Given the description of an element on the screen output the (x, y) to click on. 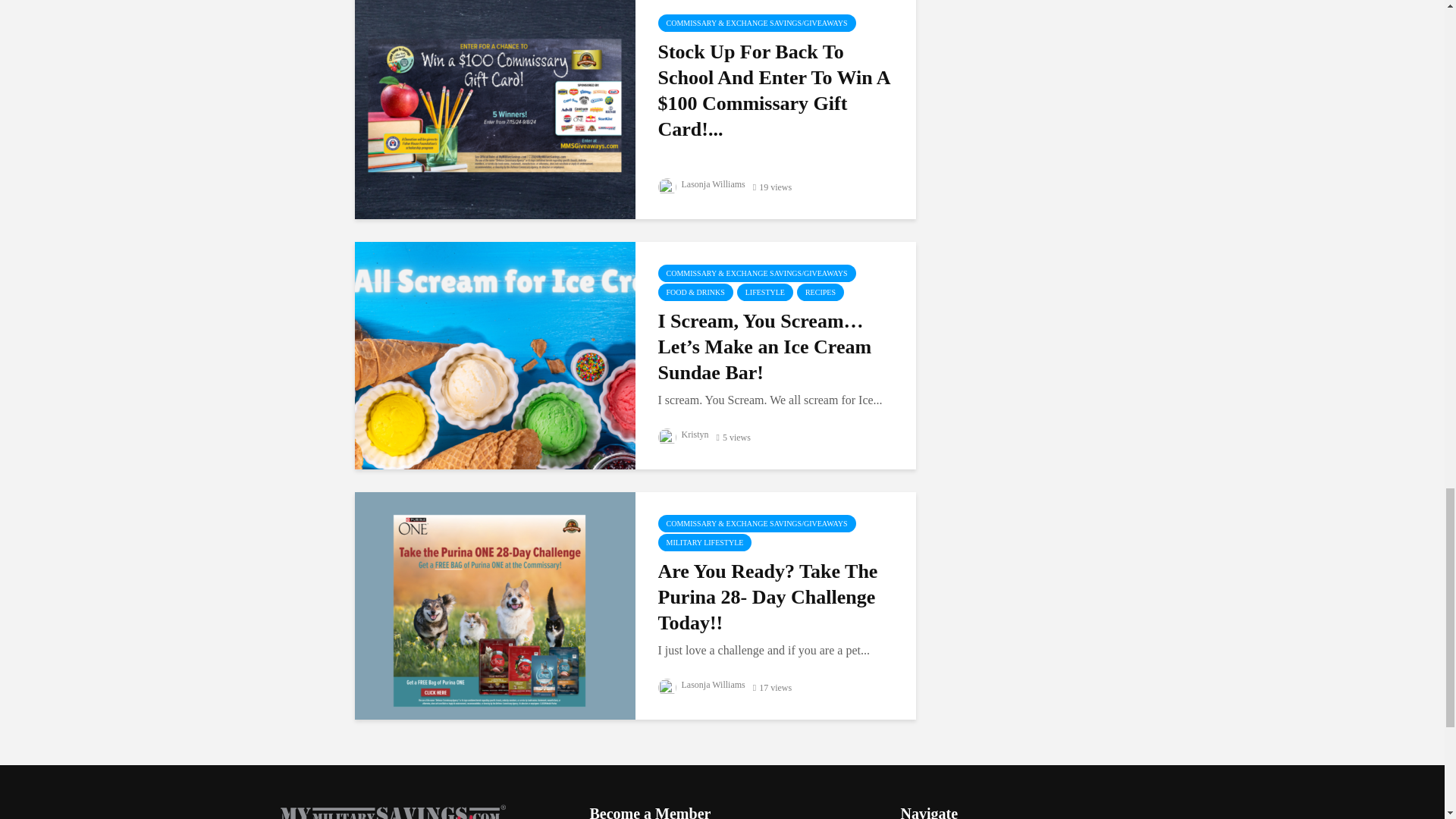
Are You Ready? Take The Purina 28- Day Challenge Today!! (494, 604)
